Given the description of an element on the screen output the (x, y) to click on. 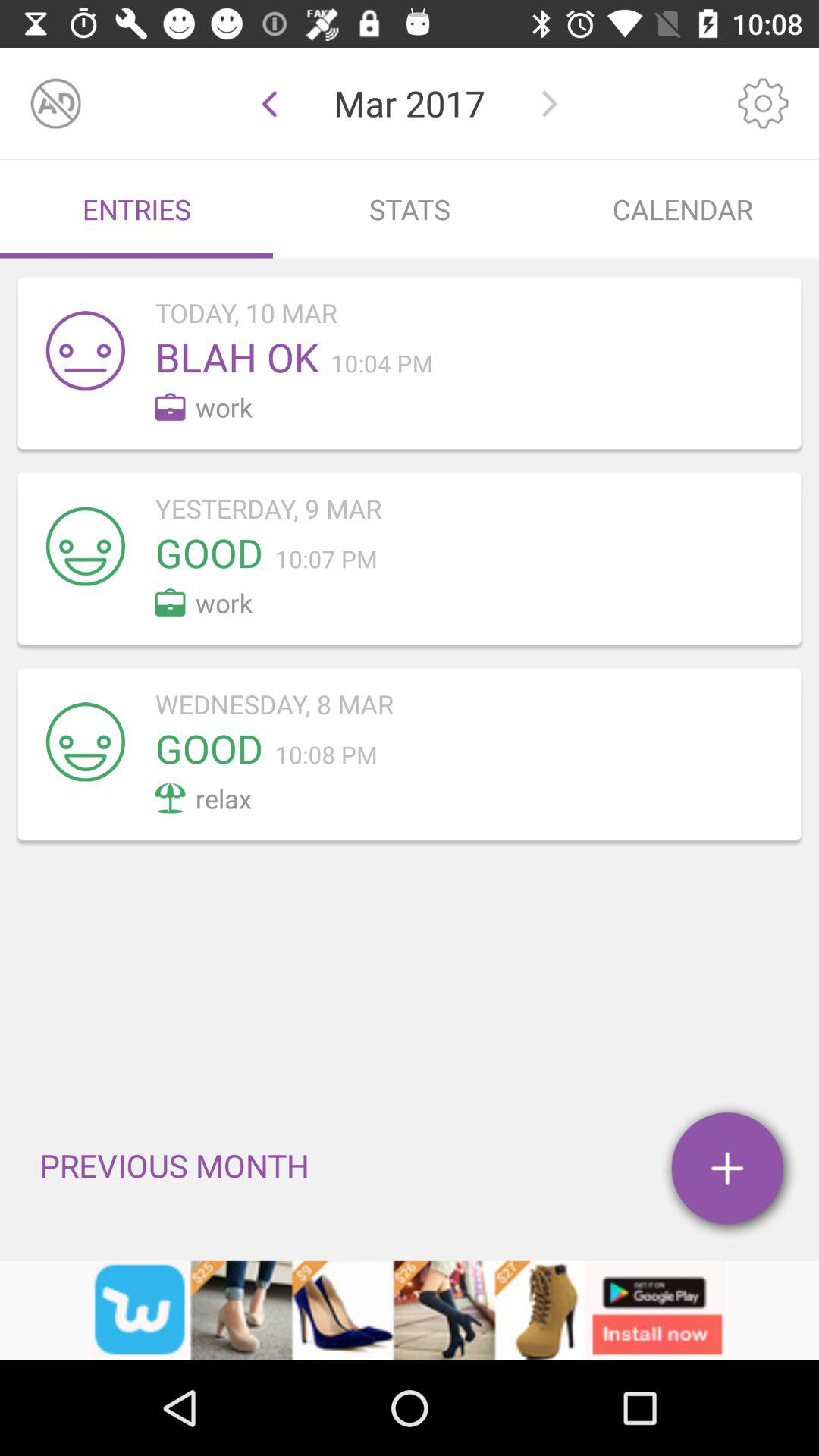
select text between entries and calendar (409, 209)
